Given the description of an element on the screen output the (x, y) to click on. 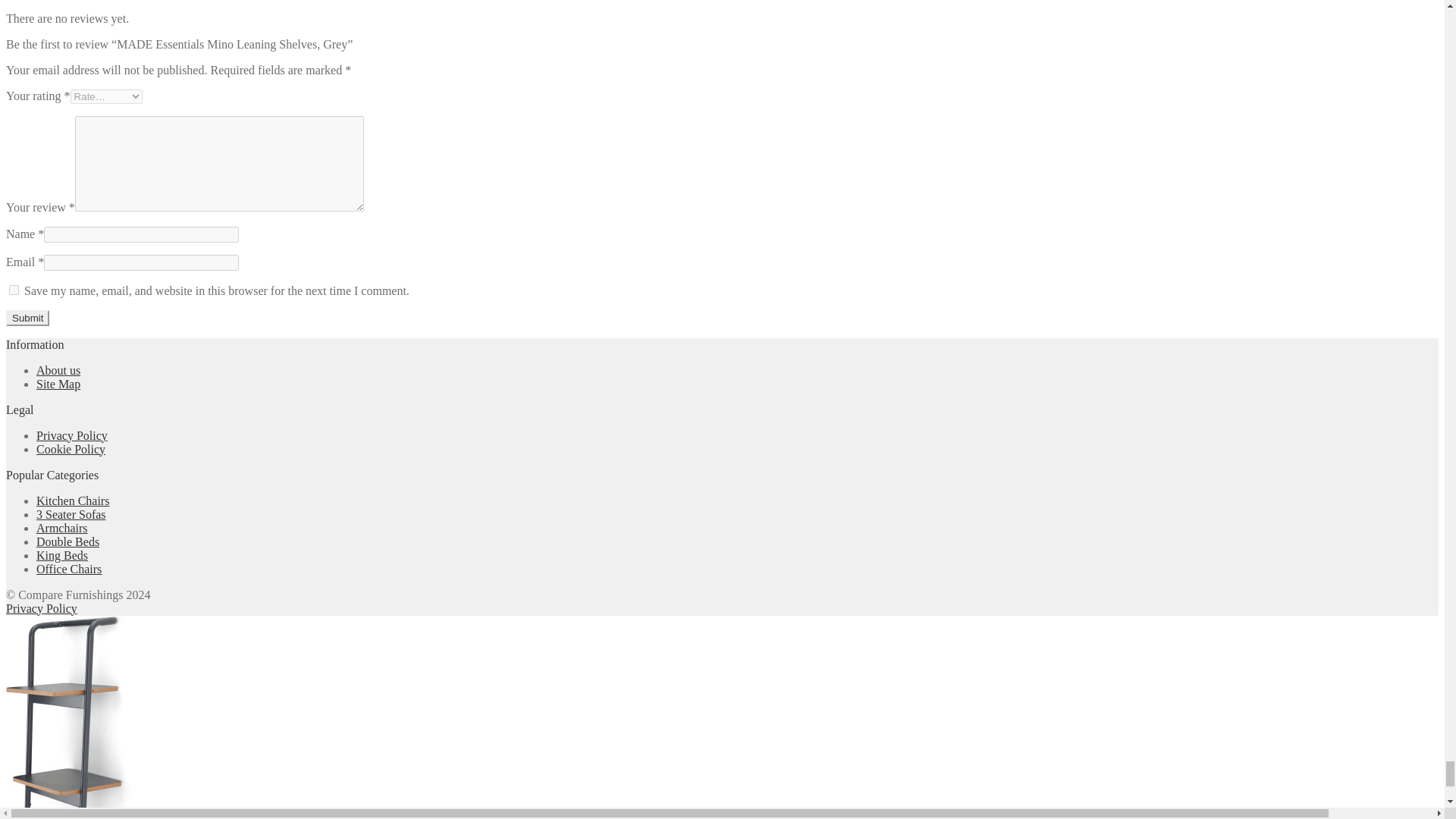
yes (13, 289)
Submit (27, 317)
